Given the description of an element on the screen output the (x, y) to click on. 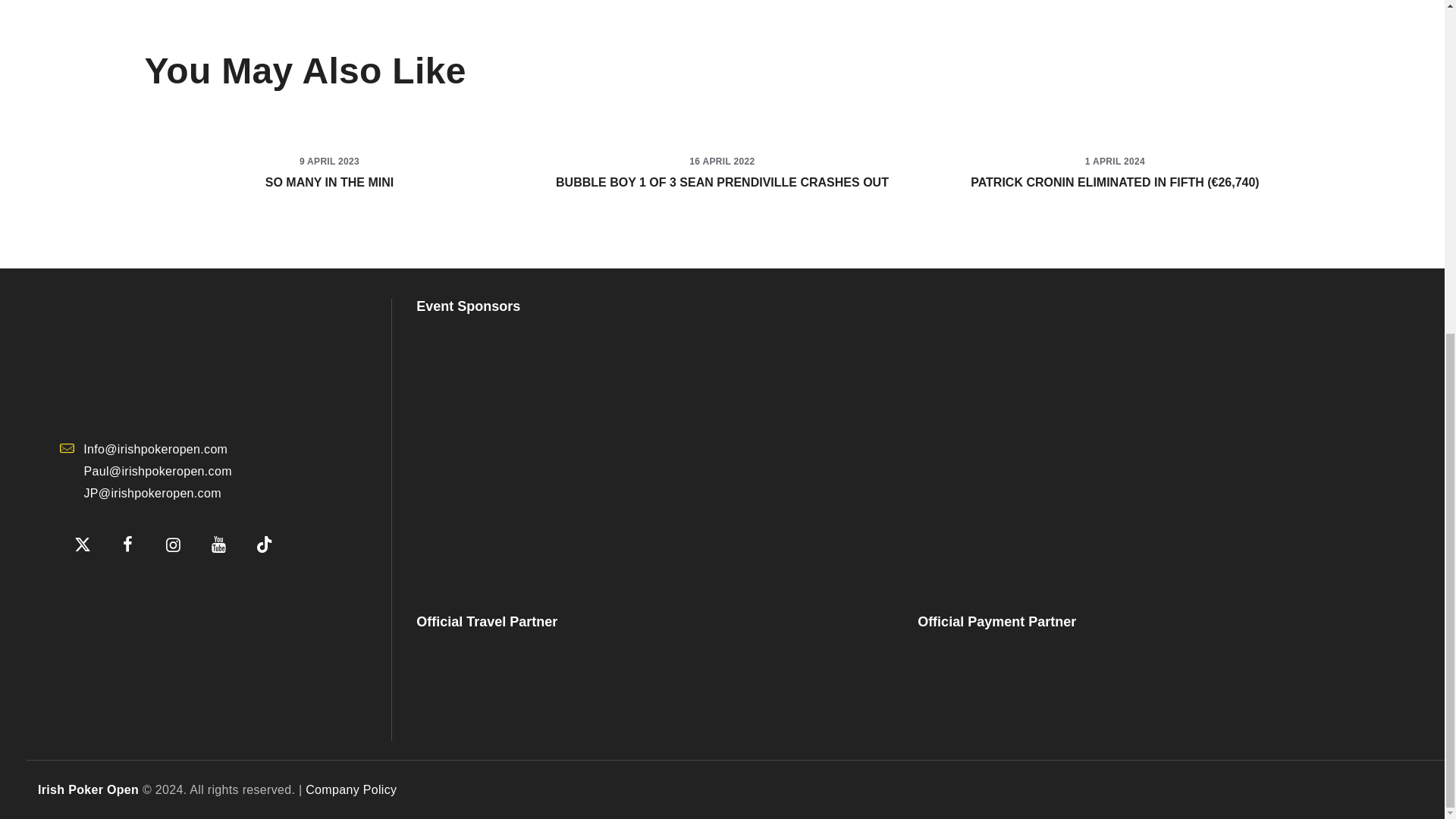
cropped-Irish-Open-Logo.jpg (172, 359)
Screen Shot 2023-01-12 at 09.14.15 (135, 589)
PSLogoTransparent (652, 452)
TRAVEL WHITE (526, 685)
